Given the description of an element on the screen output the (x, y) to click on. 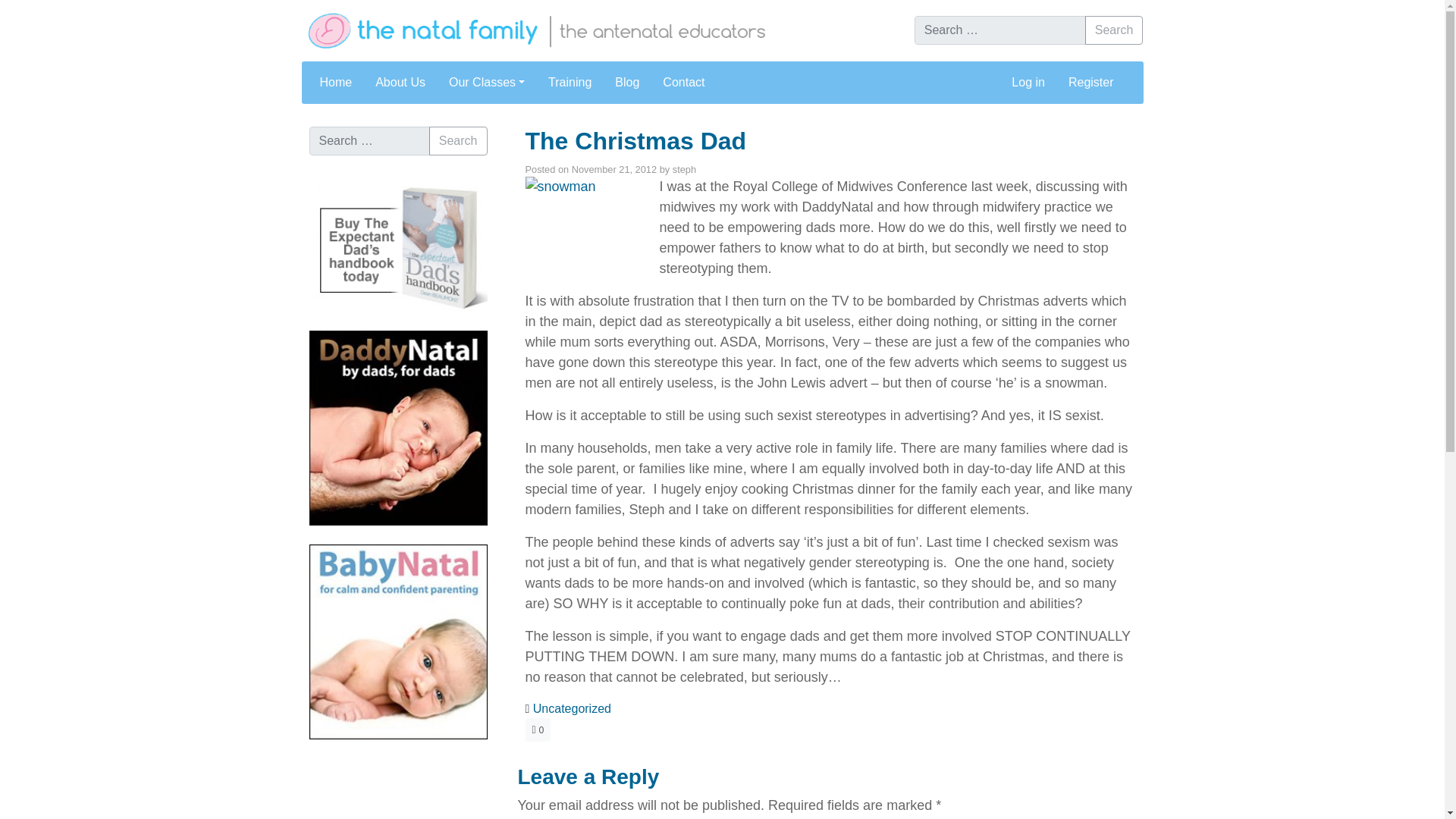
Register (1090, 82)
Blog (626, 82)
The Christmas Dad (634, 140)
The Natal Family (578, 29)
Our Classes (486, 82)
About Us (399, 82)
0 (537, 730)
View all posts by steph (683, 169)
Log in (1028, 82)
steph (683, 169)
November 21, 2012 (614, 169)
Uncategorized (571, 707)
4:51 pm (614, 169)
Home (336, 82)
Training (568, 82)
